Given the description of an element on the screen output the (x, y) to click on. 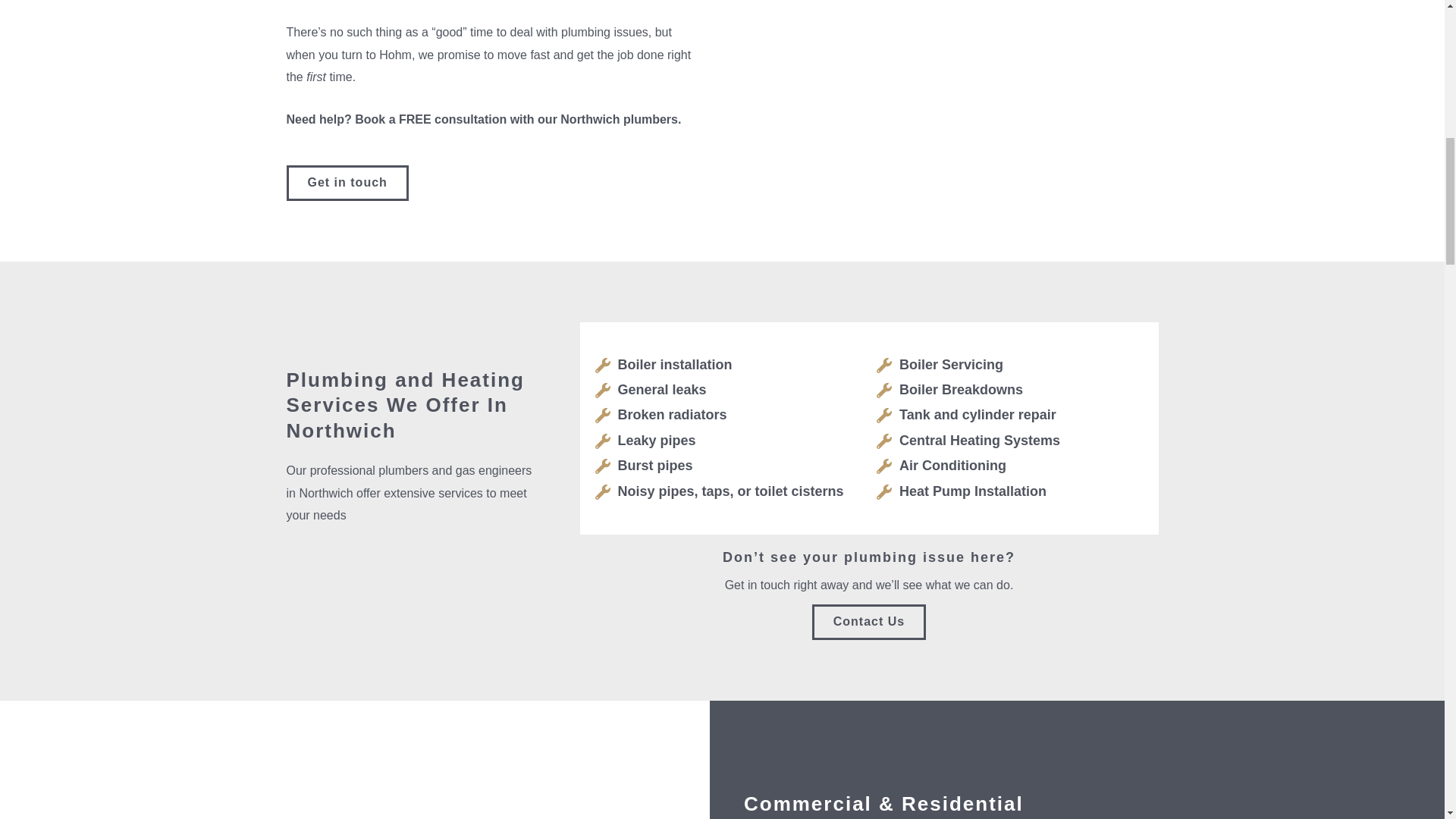
Contact Us (869, 621)
Get in touch (347, 182)
